Given the description of an element on the screen output the (x, y) to click on. 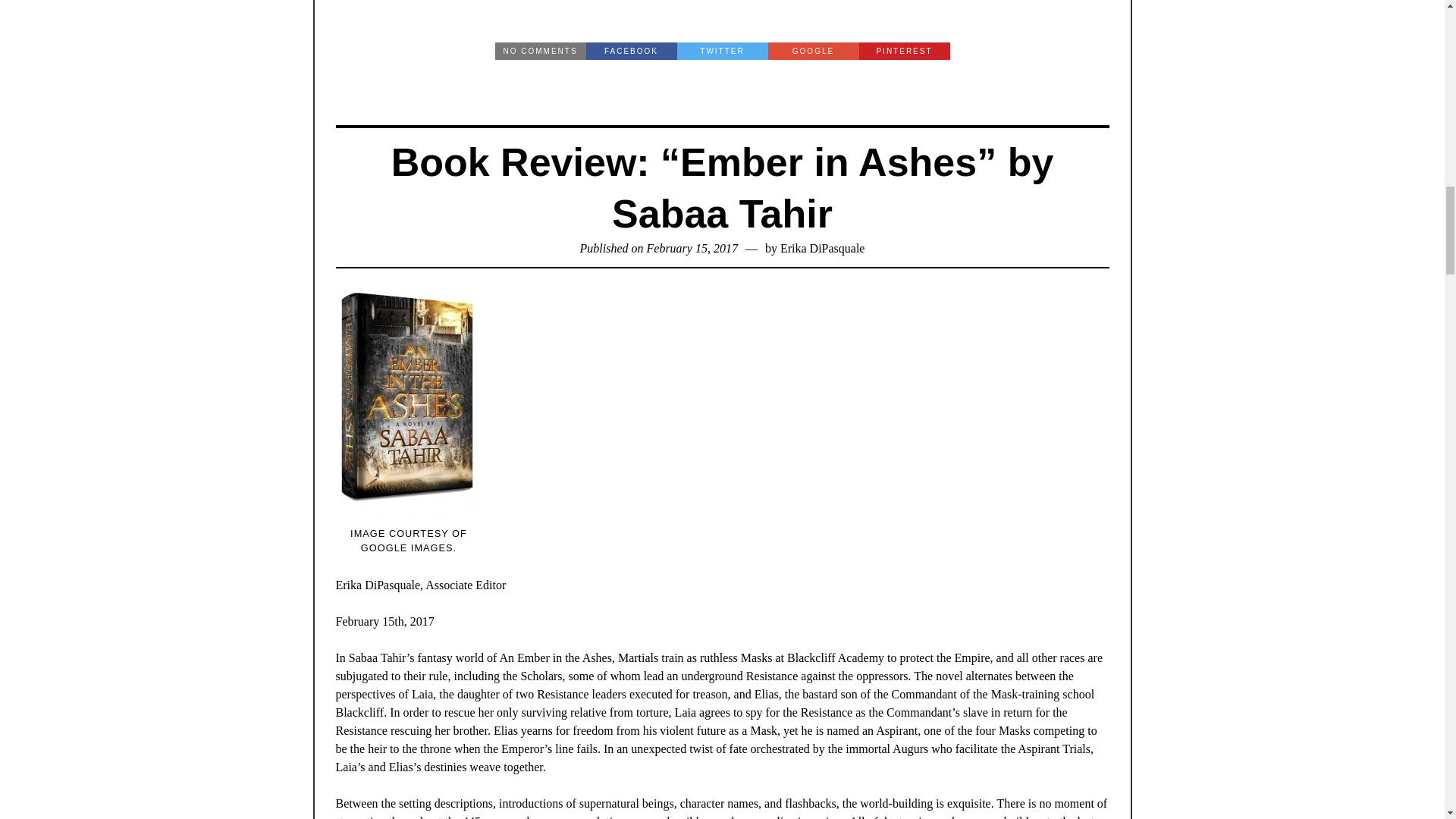
Facebook (631, 50)
Pinterest (904, 50)
NO COMMENTS (540, 50)
FACEBOOK (631, 50)
GOOGLE (813, 50)
PINTEREST (904, 50)
Erika DiPasquale (822, 247)
Twitter (722, 50)
TWITTER (722, 50)
